Given the description of an element on the screen output the (x, y) to click on. 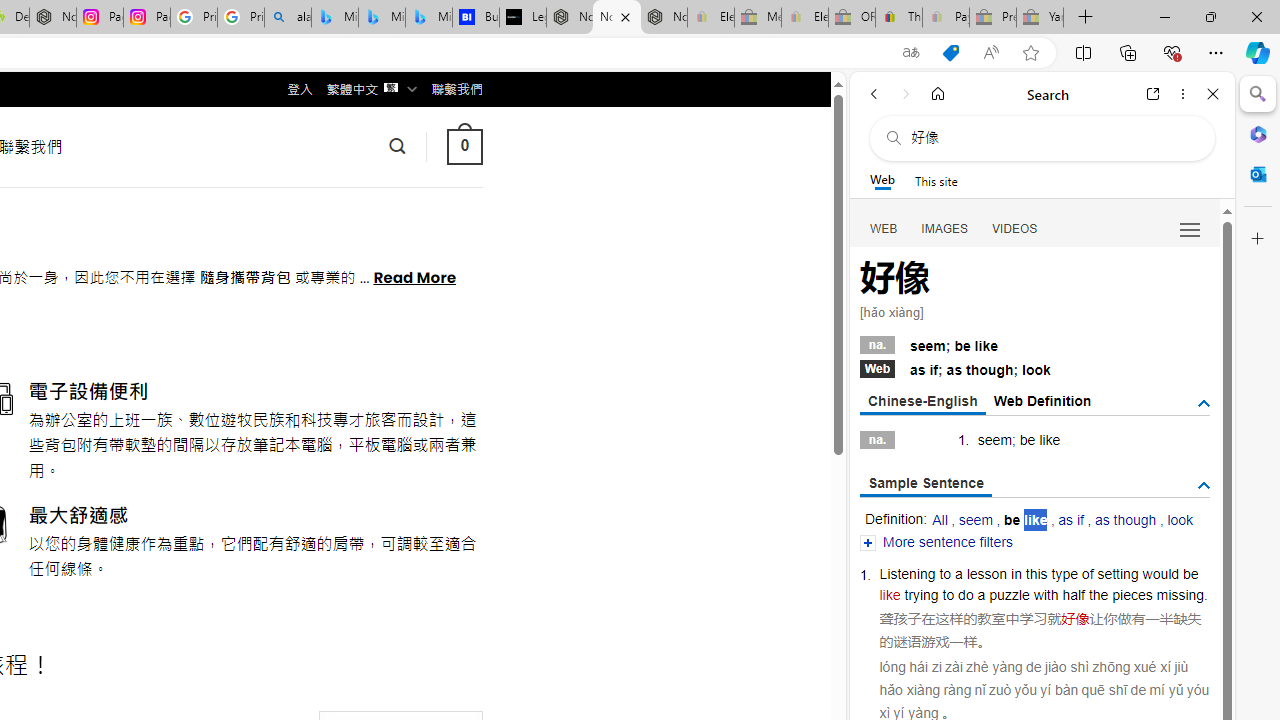
as though (1125, 520)
Threats and offensive language policy | eBay (898, 17)
lesson (987, 573)
